Given the description of an element on the screen output the (x, y) to click on. 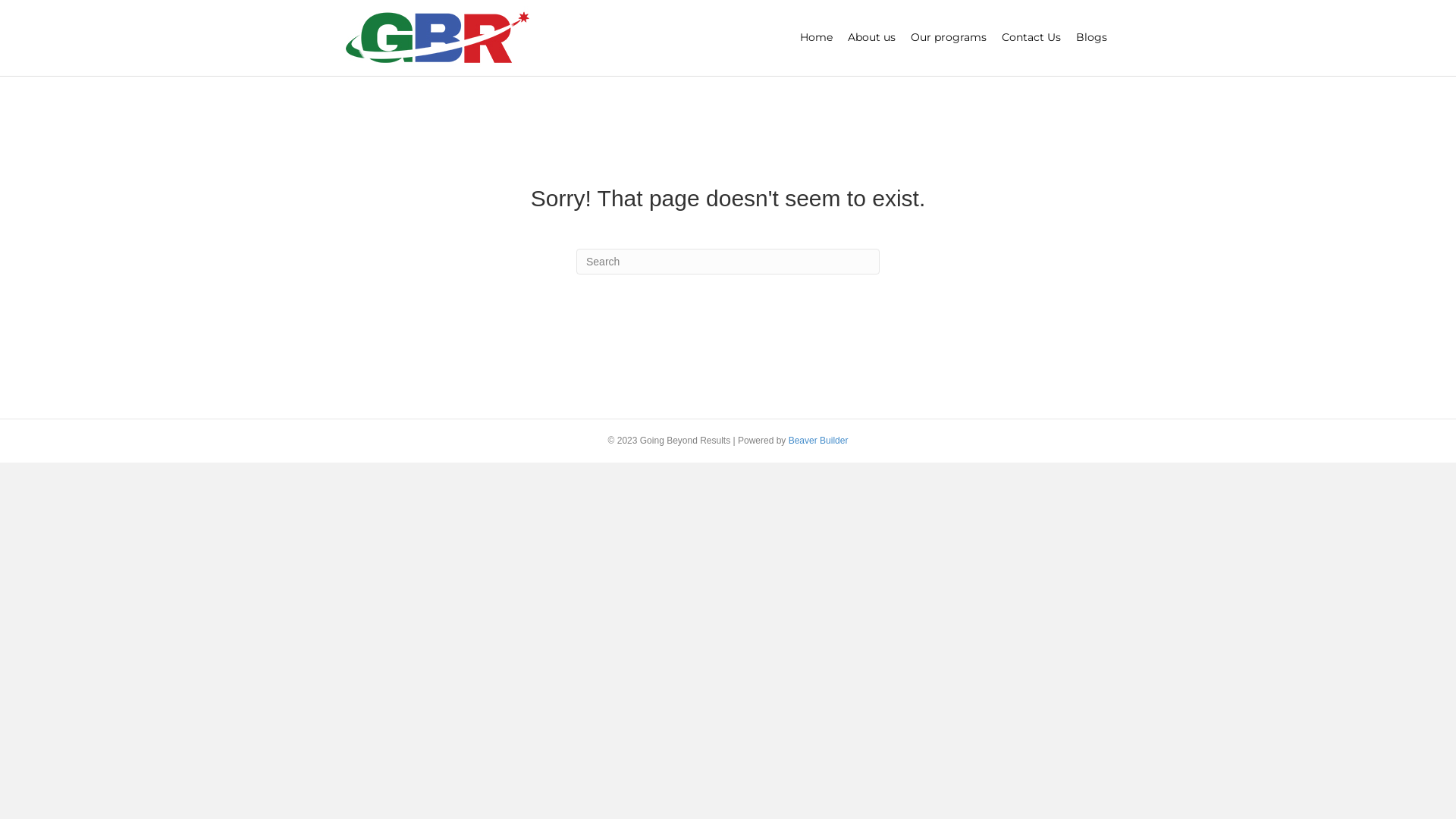
Type and press Enter to search. Element type: hover (727, 261)
Blogs Element type: text (1091, 37)
Beaver Builder Element type: text (818, 440)
Home Element type: text (816, 37)
Contact Us Element type: text (1031, 37)
Our programs Element type: text (948, 37)
About us Element type: text (871, 37)
